Given the description of an element on the screen output the (x, y) to click on. 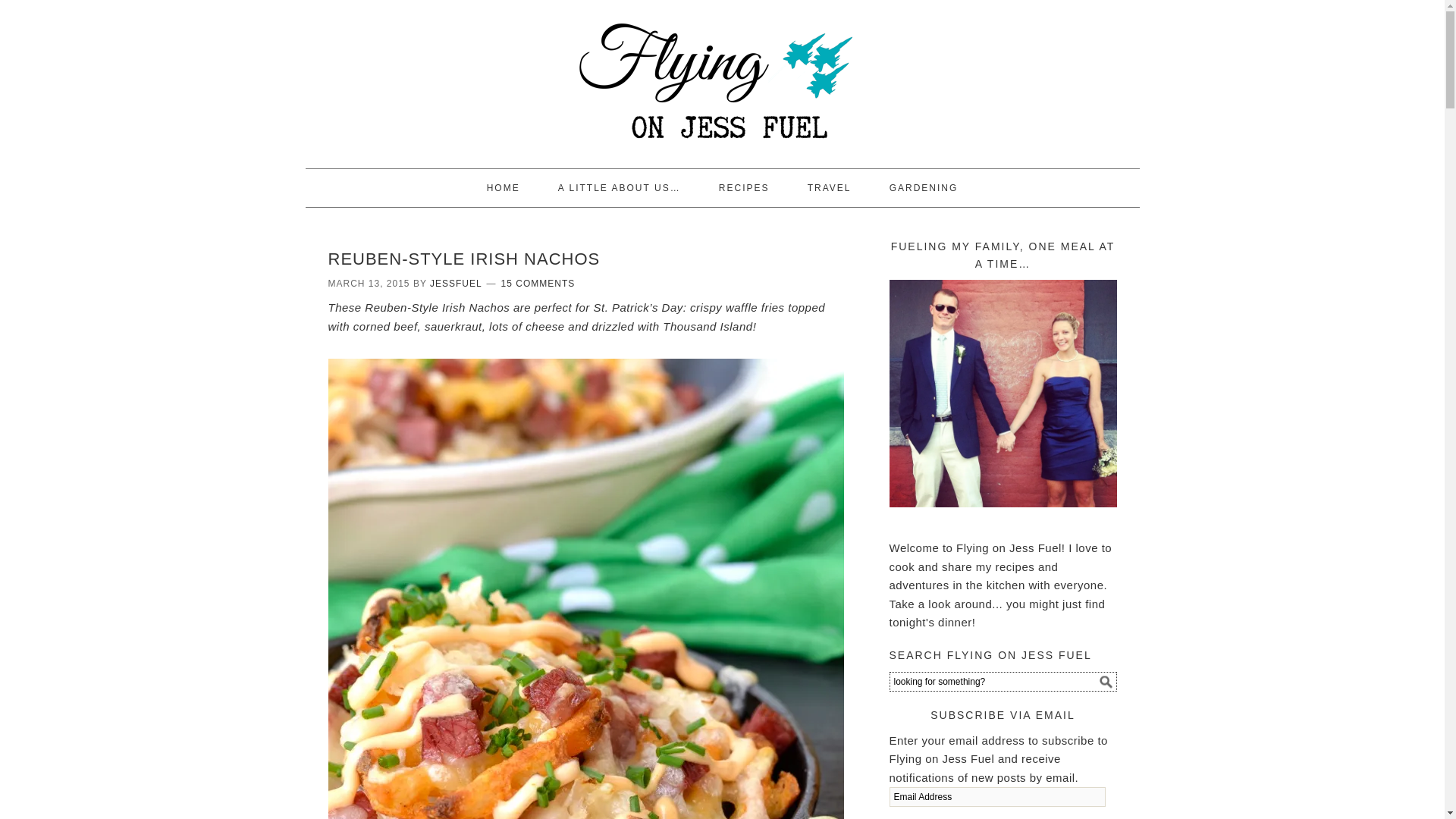
GARDENING (923, 187)
HOME (503, 187)
FLYING ON JESS FUEL (721, 77)
RECIPES (743, 187)
15 COMMENTS (537, 283)
JESSFUEL (455, 283)
TRAVEL (828, 187)
